Given the description of an element on the screen output the (x, y) to click on. 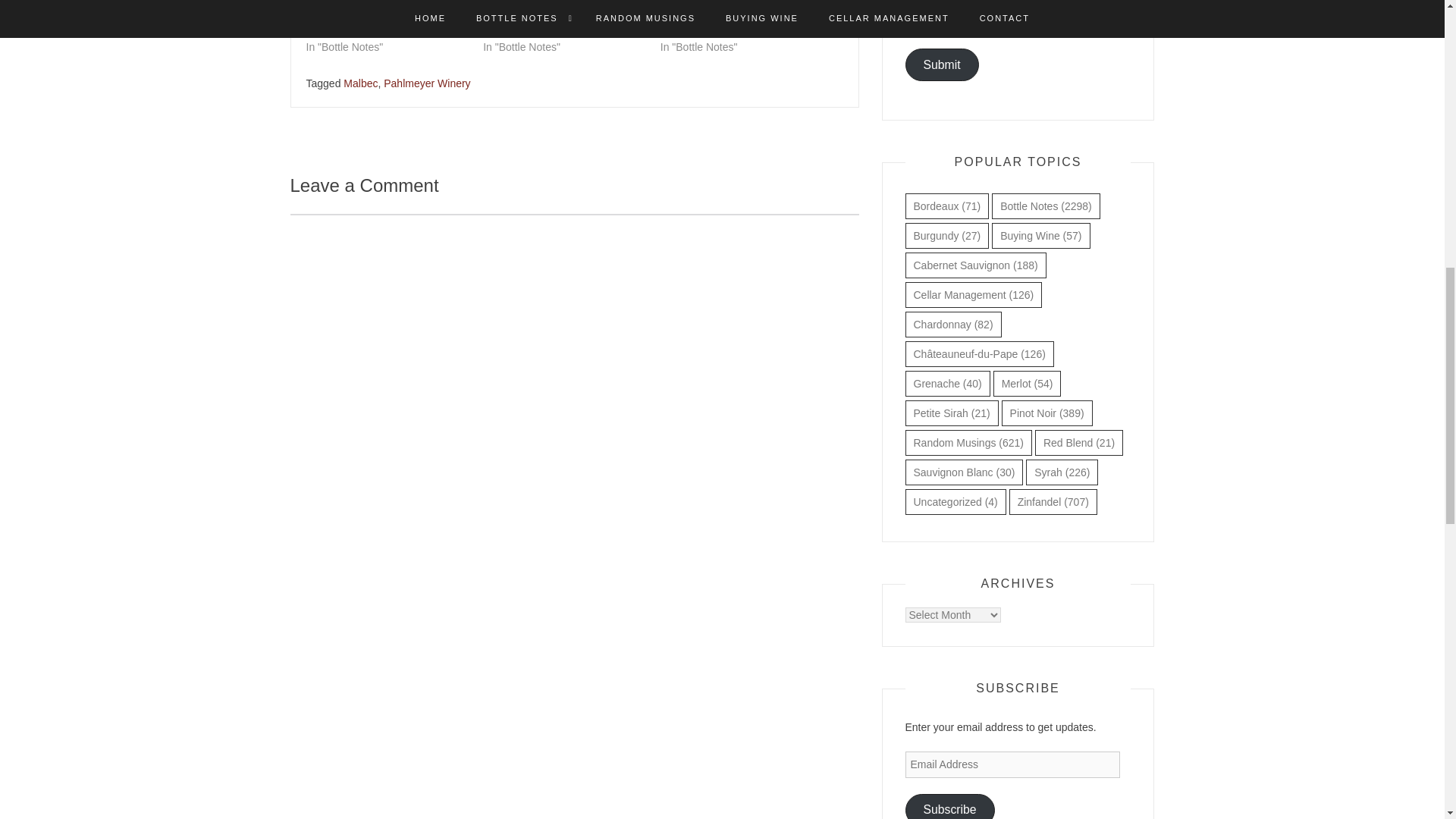
Malbec (360, 82)
Submit (941, 64)
Pahlmeyer Winery (427, 82)
